Given the description of an element on the screen output the (x, y) to click on. 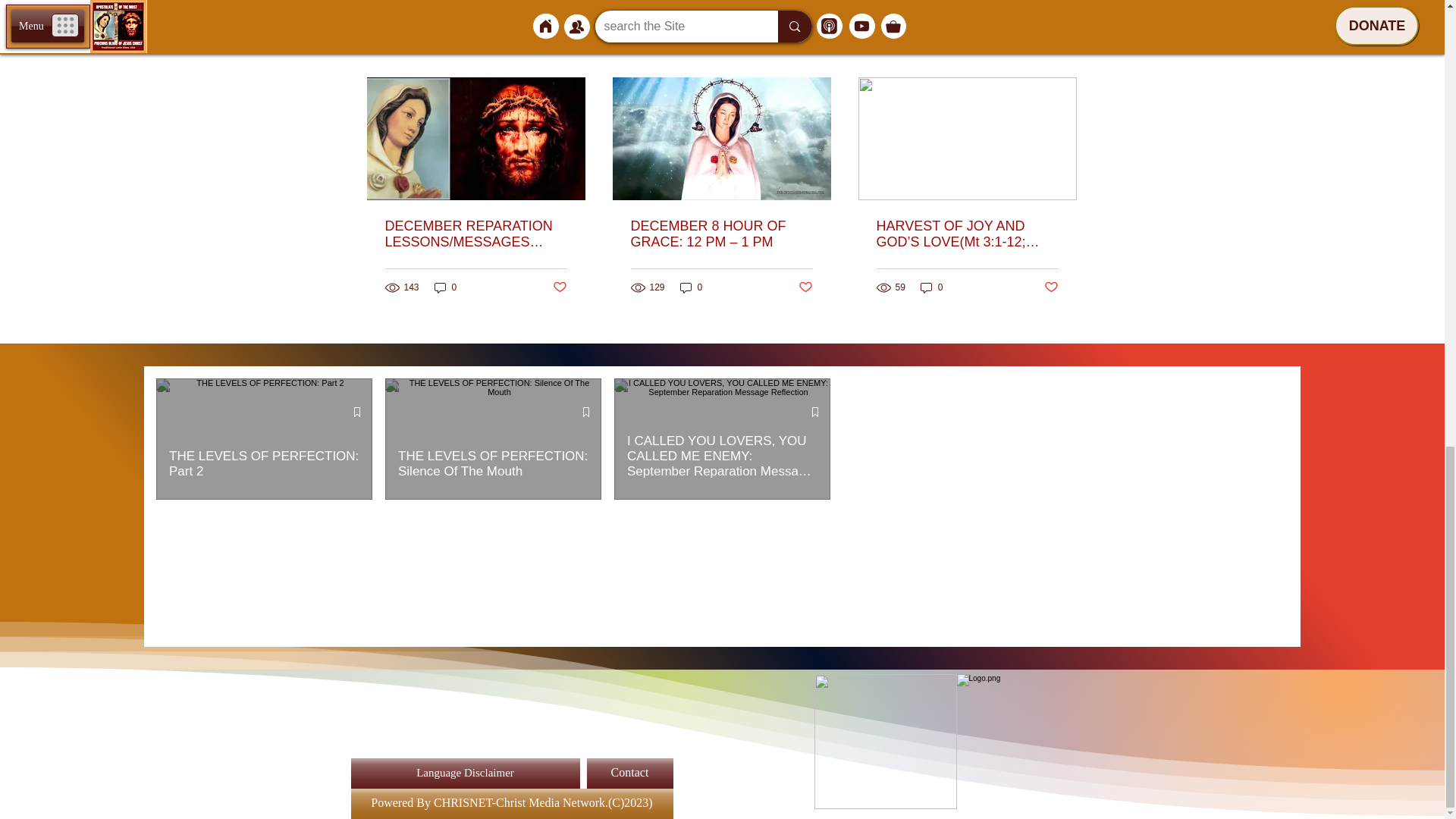
0 (931, 287)
Post not marked as liked (558, 287)
Original on Transparent.png (884, 741)
0 (445, 287)
Post not marked as liked (1050, 287)
0 (691, 287)
See All (1061, 50)
THE LEVELS OF PERFECTION: Part 2 (263, 463)
Post not marked as liked (804, 287)
